Given the description of an element on the screen output the (x, y) to click on. 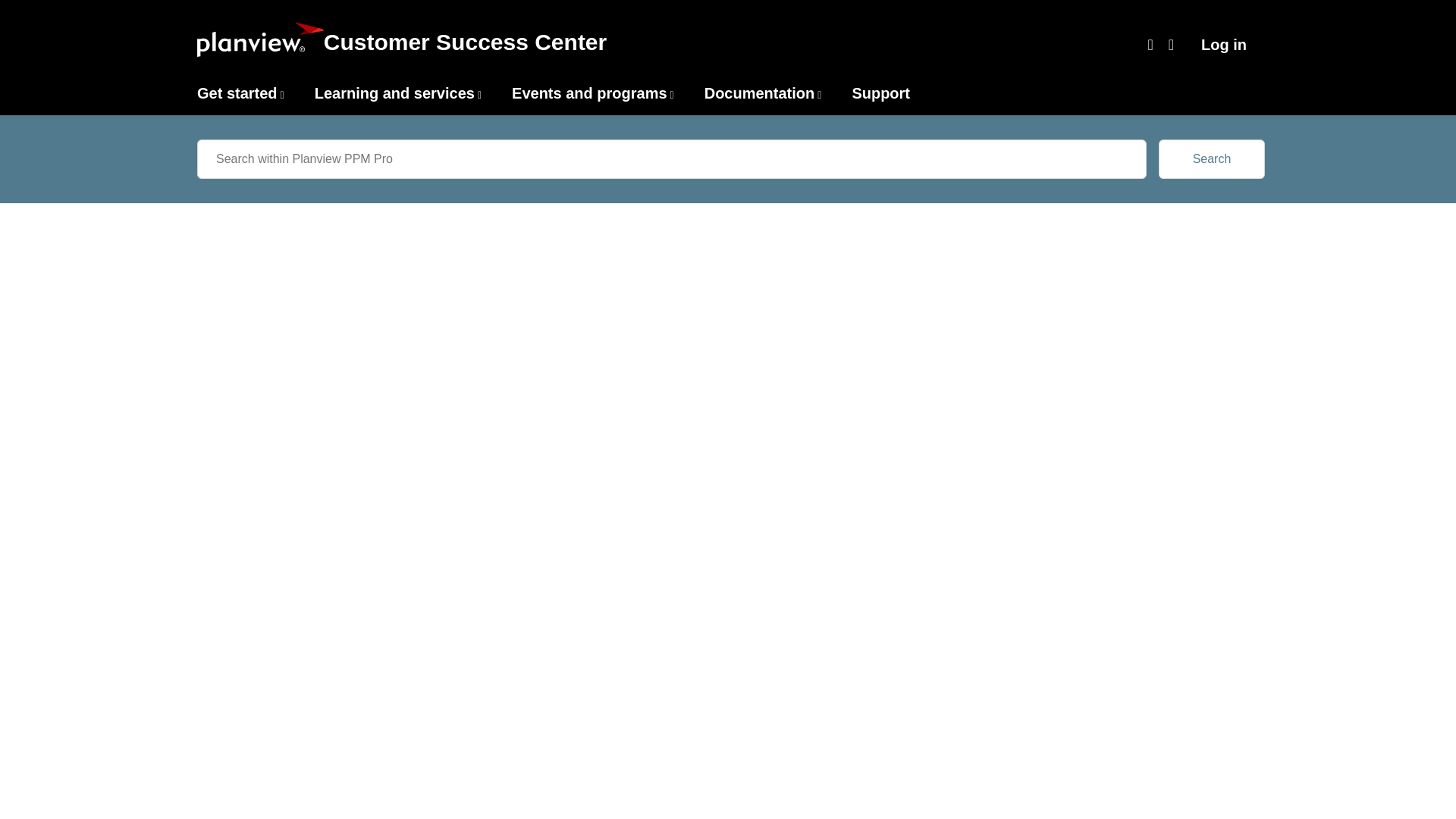
Log in (1224, 44)
Learning and services (394, 93)
Documentation (759, 93)
Events and programs (589, 93)
Get started (237, 93)
Click to sign into the site (1224, 44)
